Given the description of an element on the screen output the (x, y) to click on. 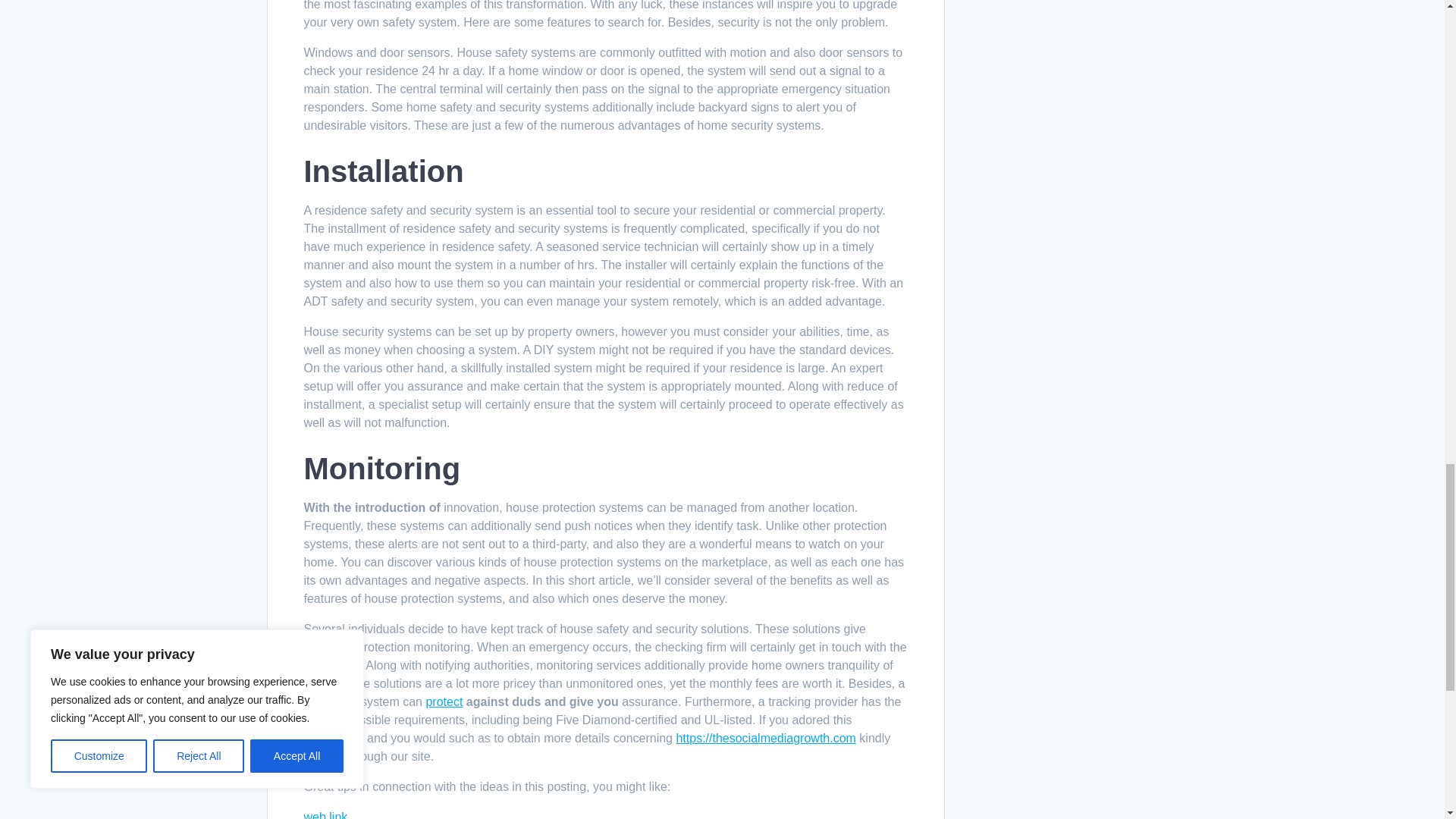
web link (324, 814)
protect (444, 701)
